Given the description of an element on the screen output the (x, y) to click on. 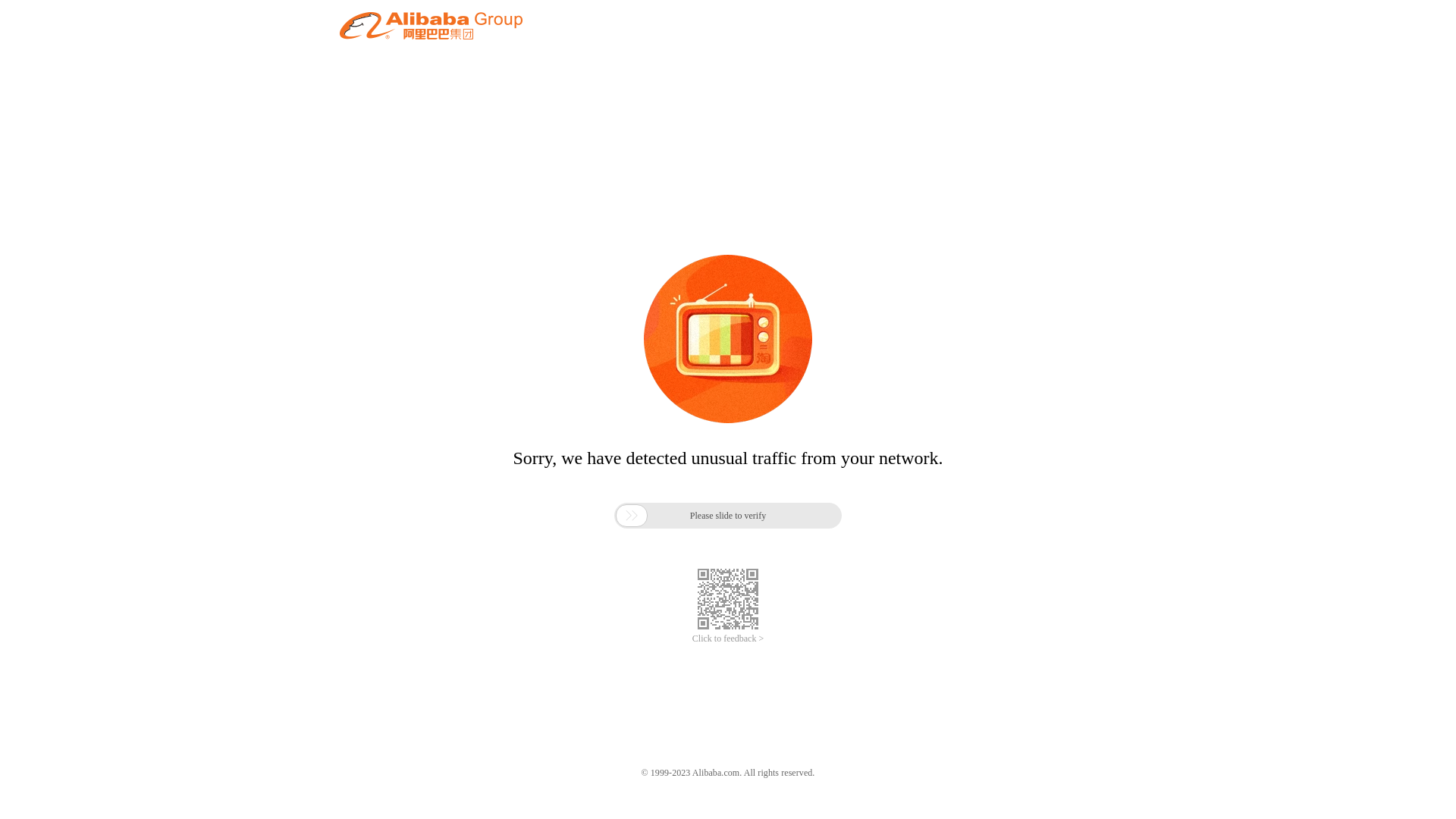
Click to feedback > Element type: text (727, 638)
